Given the description of an element on the screen output the (x, y) to click on. 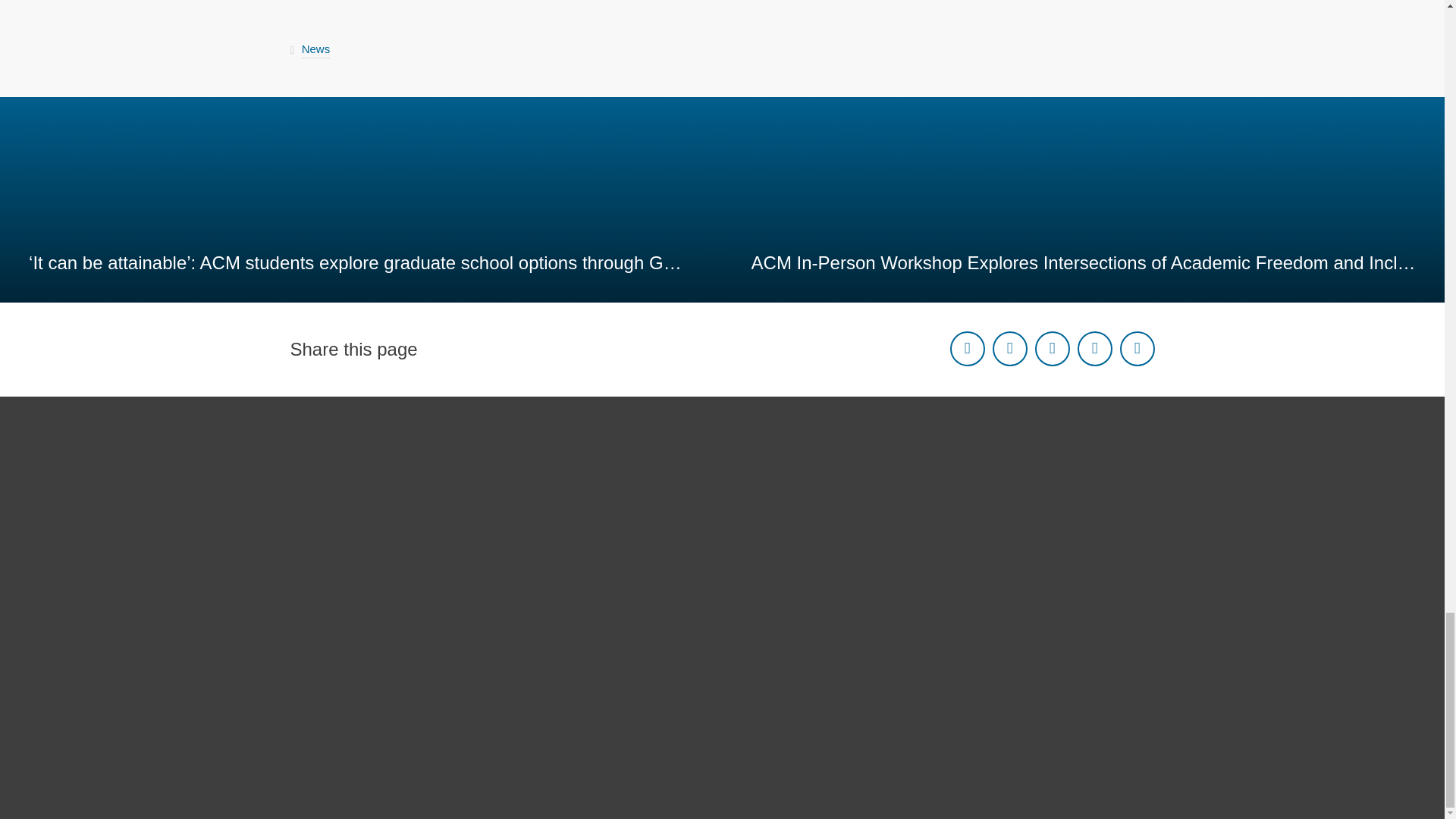
Share on LinkedIn (1050, 348)
Share on Twitter (1008, 348)
Share on Facebook (966, 348)
